Given the description of an element on the screen output the (x, y) to click on. 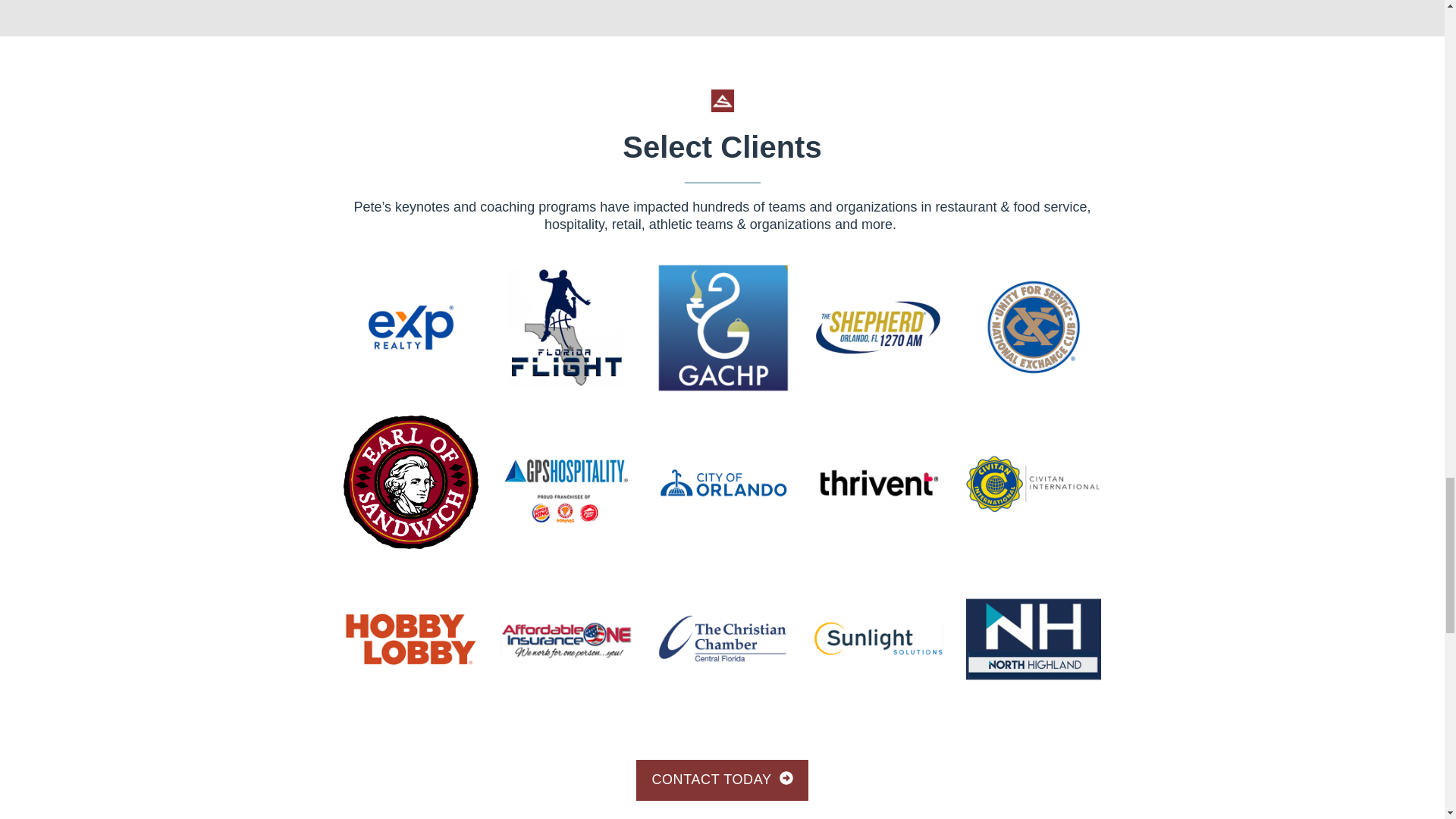
CONTACT TODAY (722, 780)
